Given the description of an element on the screen output the (x, y) to click on. 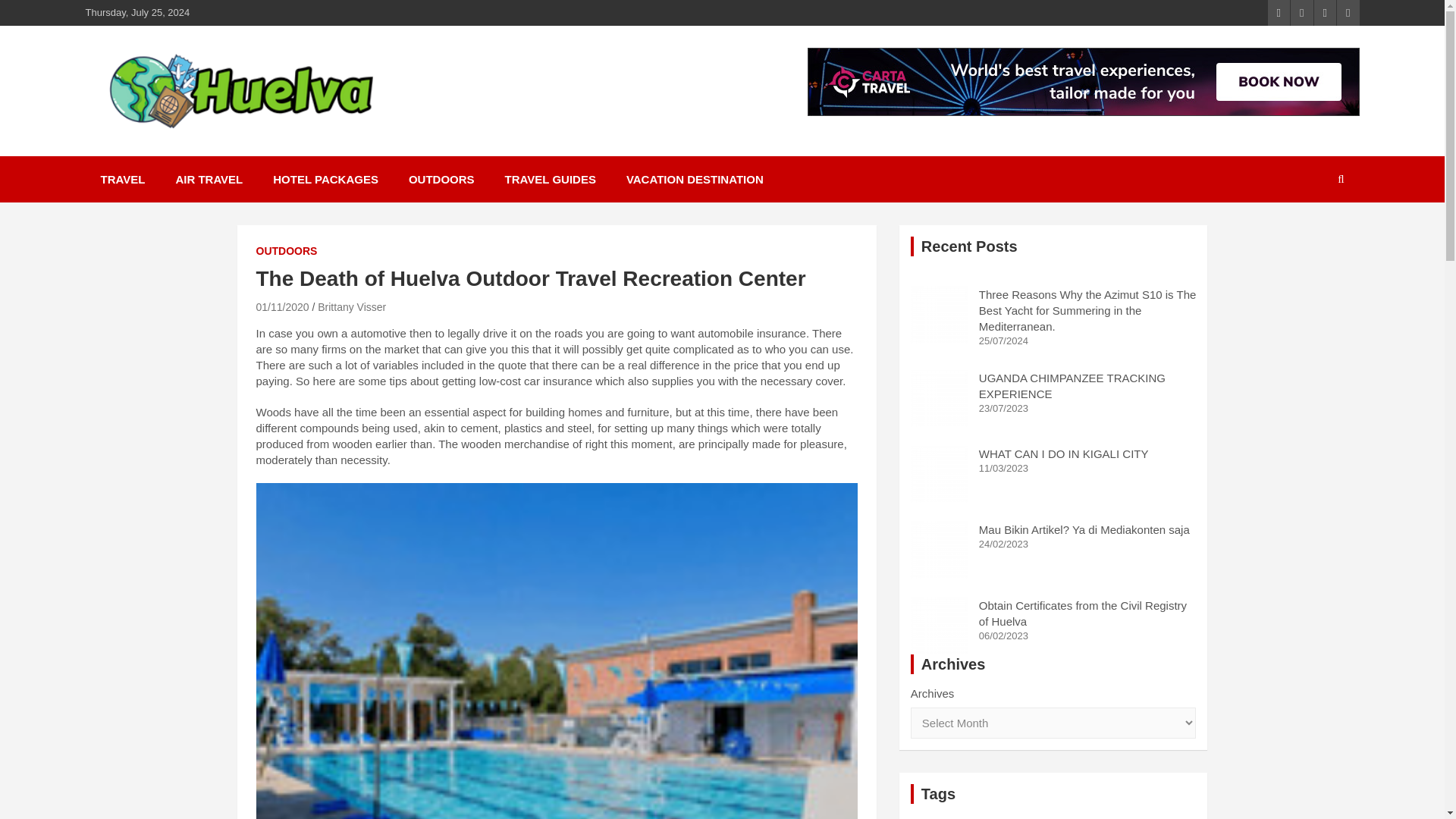
TRAVEL GUIDES (550, 179)
Brittany Visser (351, 306)
best crypto app (1048, 817)
TRAVEL (122, 179)
UGANDA CHIMPANZEE TRACKING EXPERIENCE (1072, 385)
The Death of Huelva Outdoor Travel Recreation Center (282, 306)
HOTEL PACKAGES (325, 179)
OUTDOORS (441, 179)
Mau Bikin Artikel? Ya di Mediakonten saja (1083, 529)
airplane (1066, 814)
Mau Bikin Artikel? Ya di Mediakonten saja (939, 549)
Obtain Certificates from the Civil Registry of Huelva (939, 625)
UGANDA CHIMPANZEE TRACKING EXPERIENCE (939, 398)
VACATION DESTINATION (694, 179)
